Given the description of an element on the screen output the (x, y) to click on. 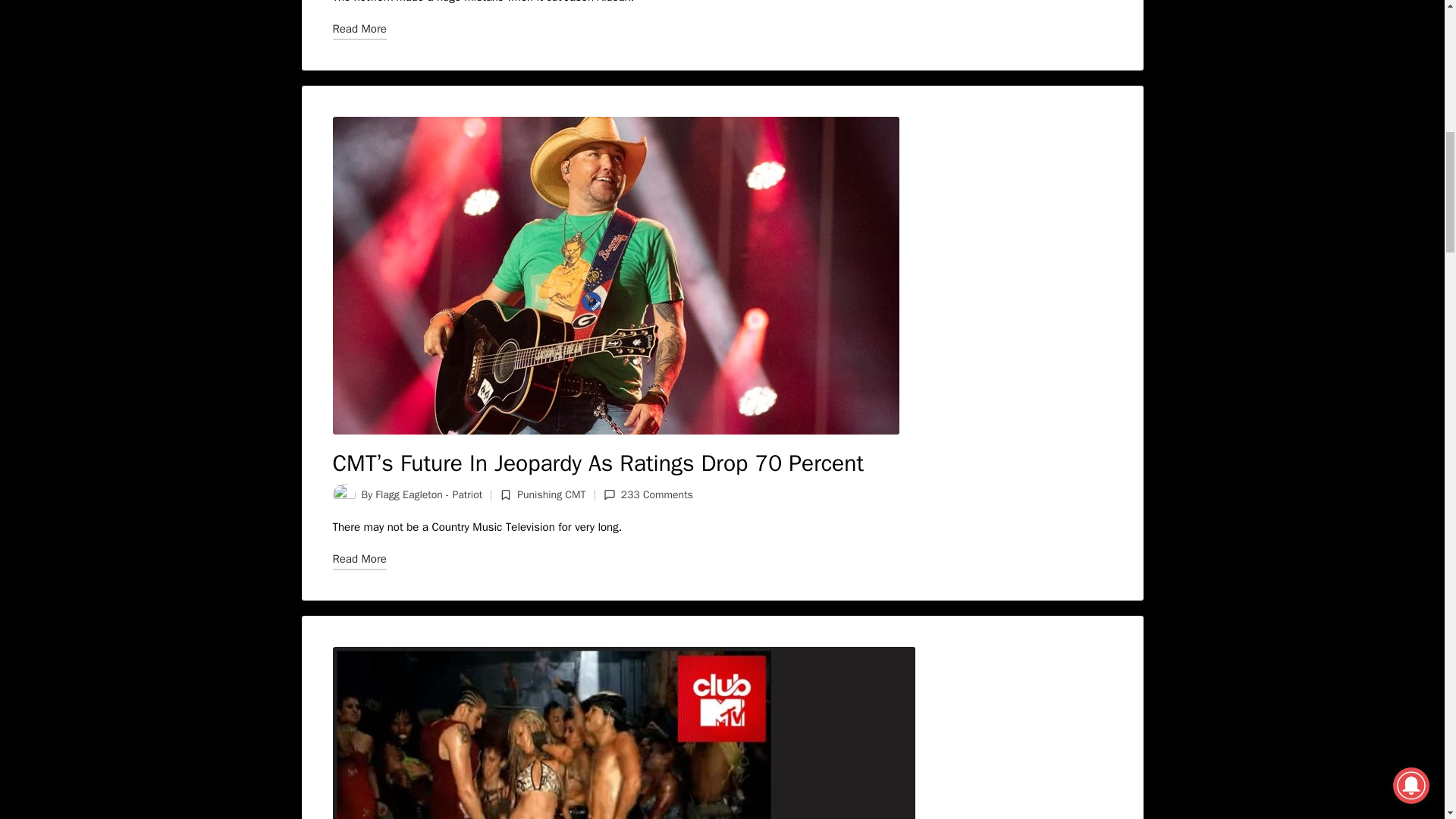
Flagg Eagleton - Patriot (428, 494)
Read More (358, 558)
Read More (358, 28)
View all posts by Flagg Eagleton - Patriot (428, 494)
Punishing CMT (550, 494)
233 Comments (648, 495)
